Given the description of an element on the screen output the (x, y) to click on. 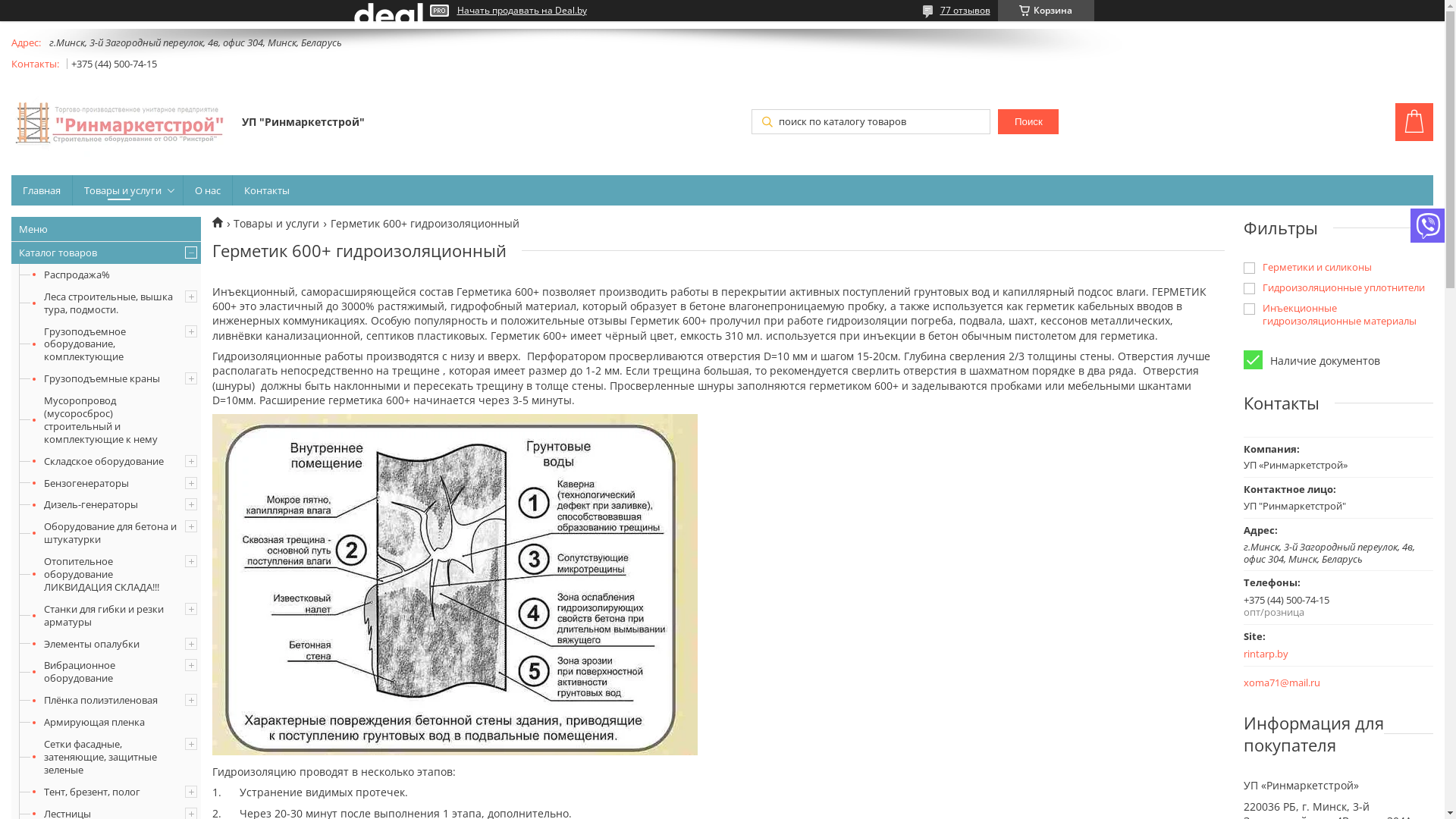
xoma71@mail.ru Element type: text (1281, 682)
rintarp.by Element type: text (1317, 653)
